Given the description of an element on the screen output the (x, y) to click on. 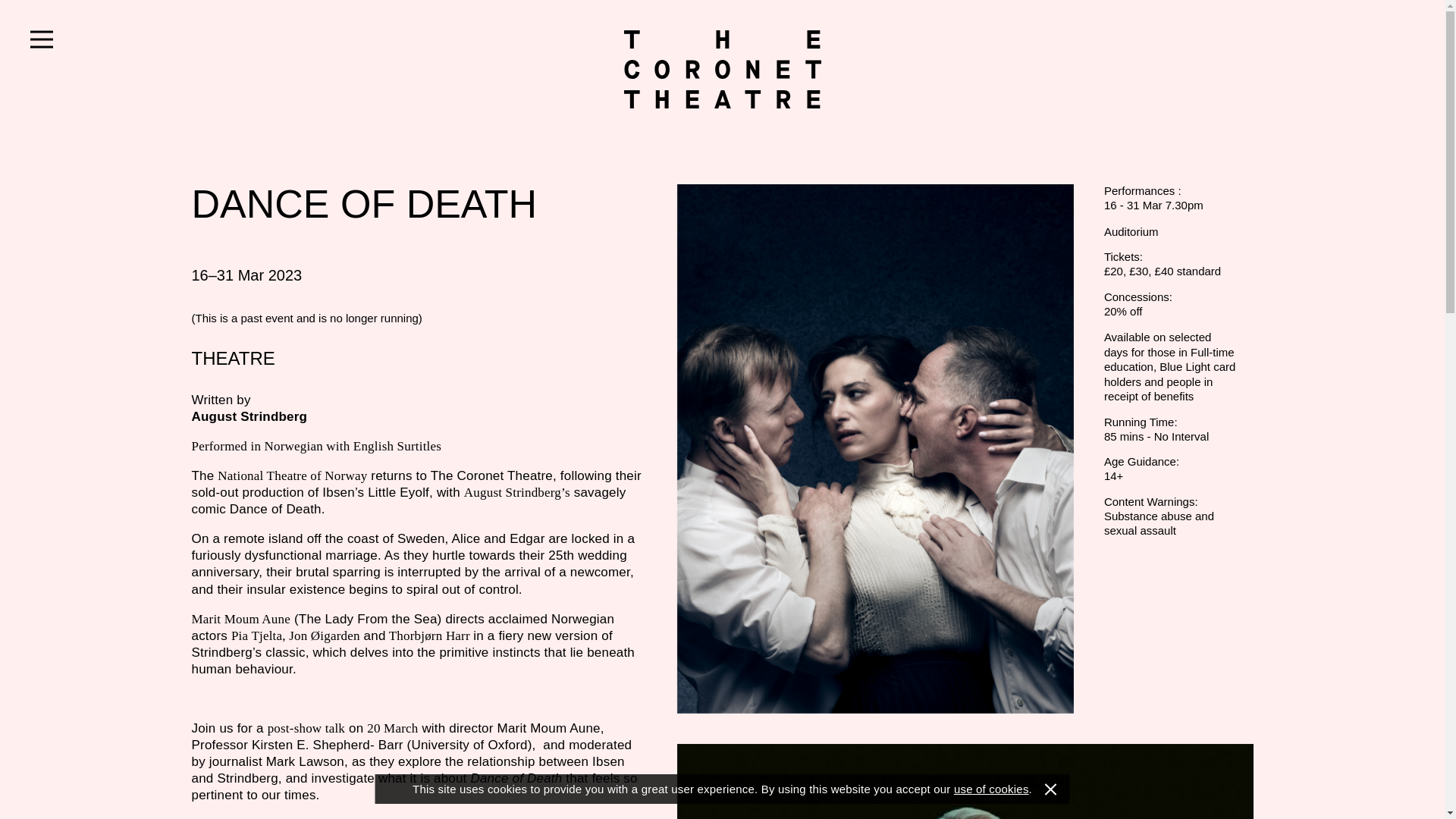
: (722, 69)
Menu (41, 39)
: (722, 69)
